Given the description of an element on the screen output the (x, y) to click on. 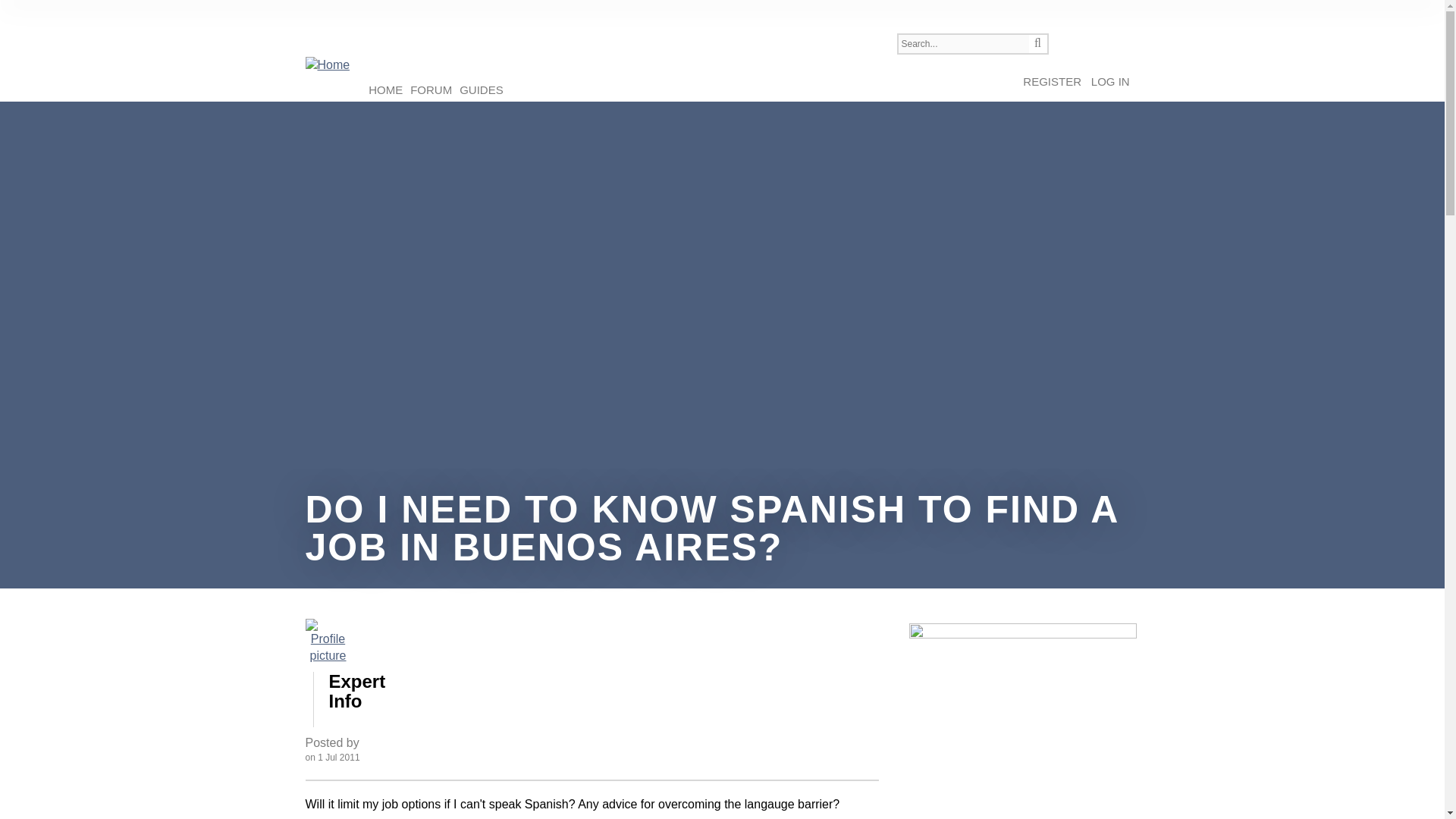
Enter the terms you wish to search for. (961, 43)
HOME (385, 90)
Search (1037, 43)
GUIDES (480, 90)
REGISTER (1052, 81)
FORUM (430, 90)
Home (326, 64)
LOG IN (1109, 81)
Search (1037, 43)
